Given the description of an element on the screen output the (x, y) to click on. 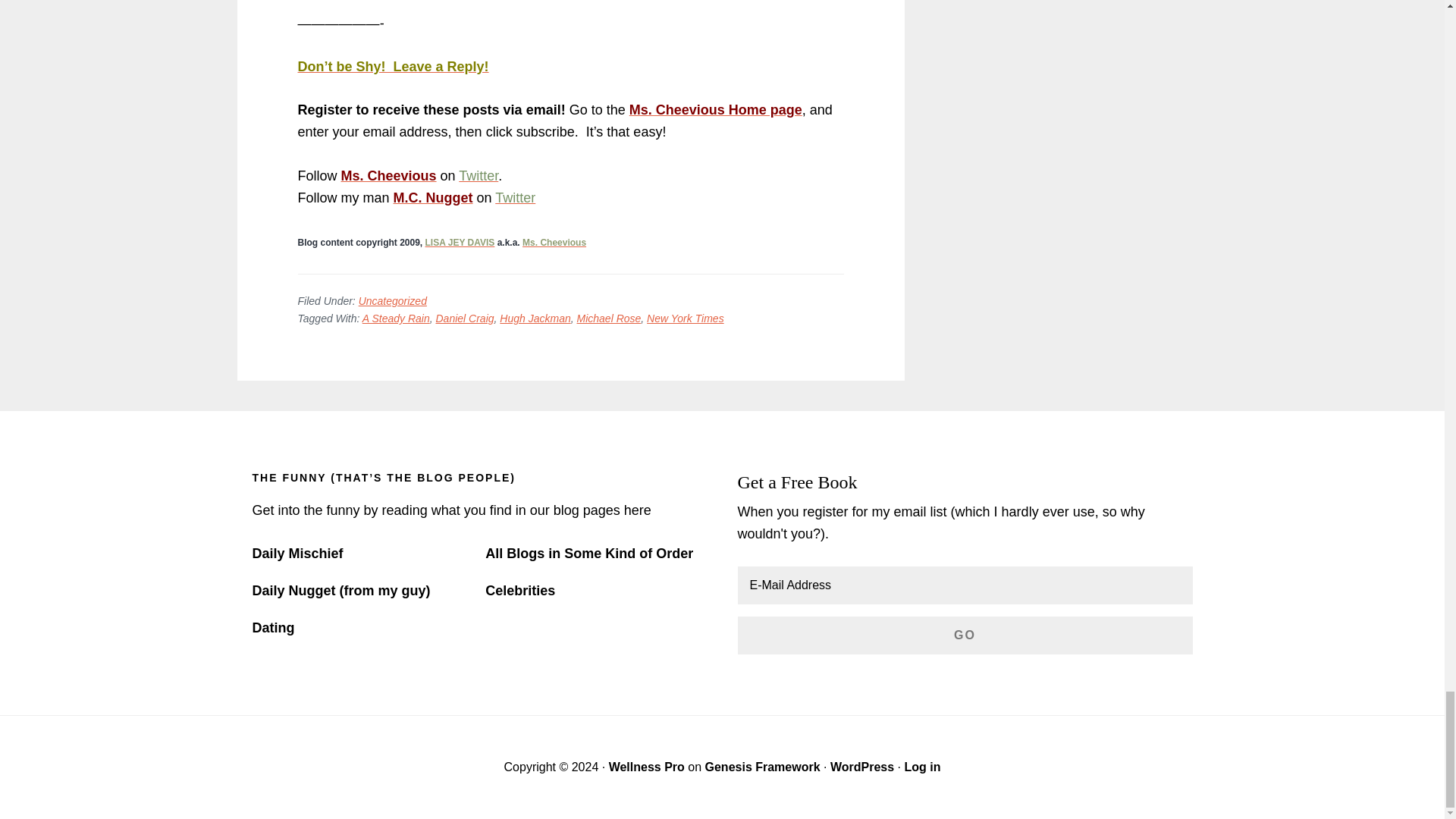
MS CHEEVIOUS (554, 242)
Go (964, 635)
Subscribe Baby! (715, 109)
Reply to this baby! (392, 66)
